Given the description of an element on the screen output the (x, y) to click on. 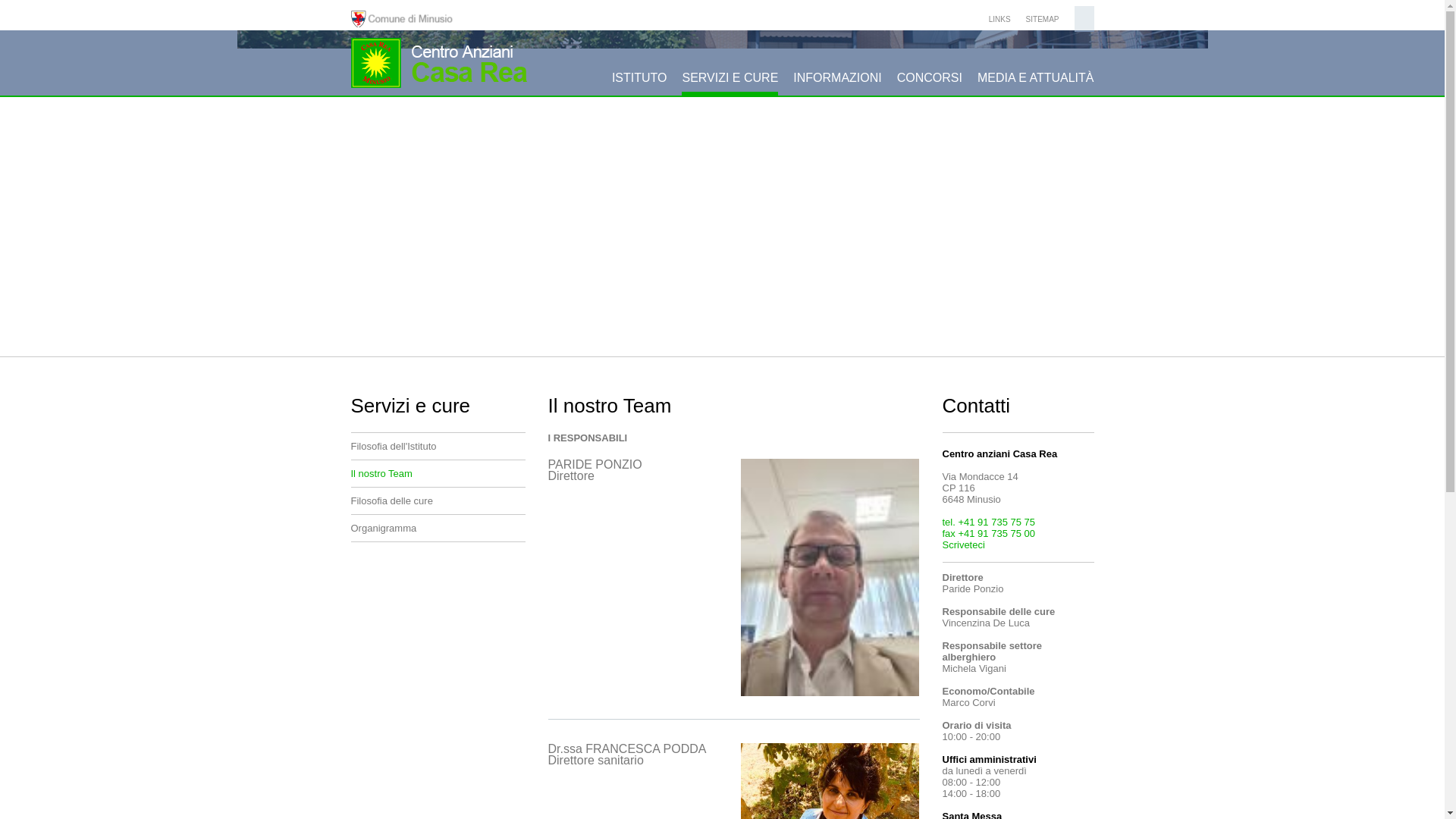
4 Element type: text (423, 341)
Organigramma Element type: text (437, 528)
Scriveteci Element type: text (962, 544)
fax +41 91 735 75 00 Element type: text (988, 533)
2 Element type: text (381, 341)
SITEMAP Element type: text (1042, 19)
Filosofia dell'Istituto Element type: text (437, 446)
SERVIZI E CURE Element type: text (729, 83)
3 Element type: text (402, 341)
Foto direttore Element type: hover (829, 577)
CONCORSI Element type: text (929, 83)
tel. +41 91 735 75 75 Element type: text (988, 521)
Il nostro Team Element type: text (437, 473)
INFORMAZIONI Element type: text (837, 83)
LINKS Element type: text (999, 19)
1 Element type: text (360, 341)
ISTITUTO Element type: text (639, 83)
Filosofia delle cure Element type: text (437, 500)
